Given the description of an element on the screen output the (x, y) to click on. 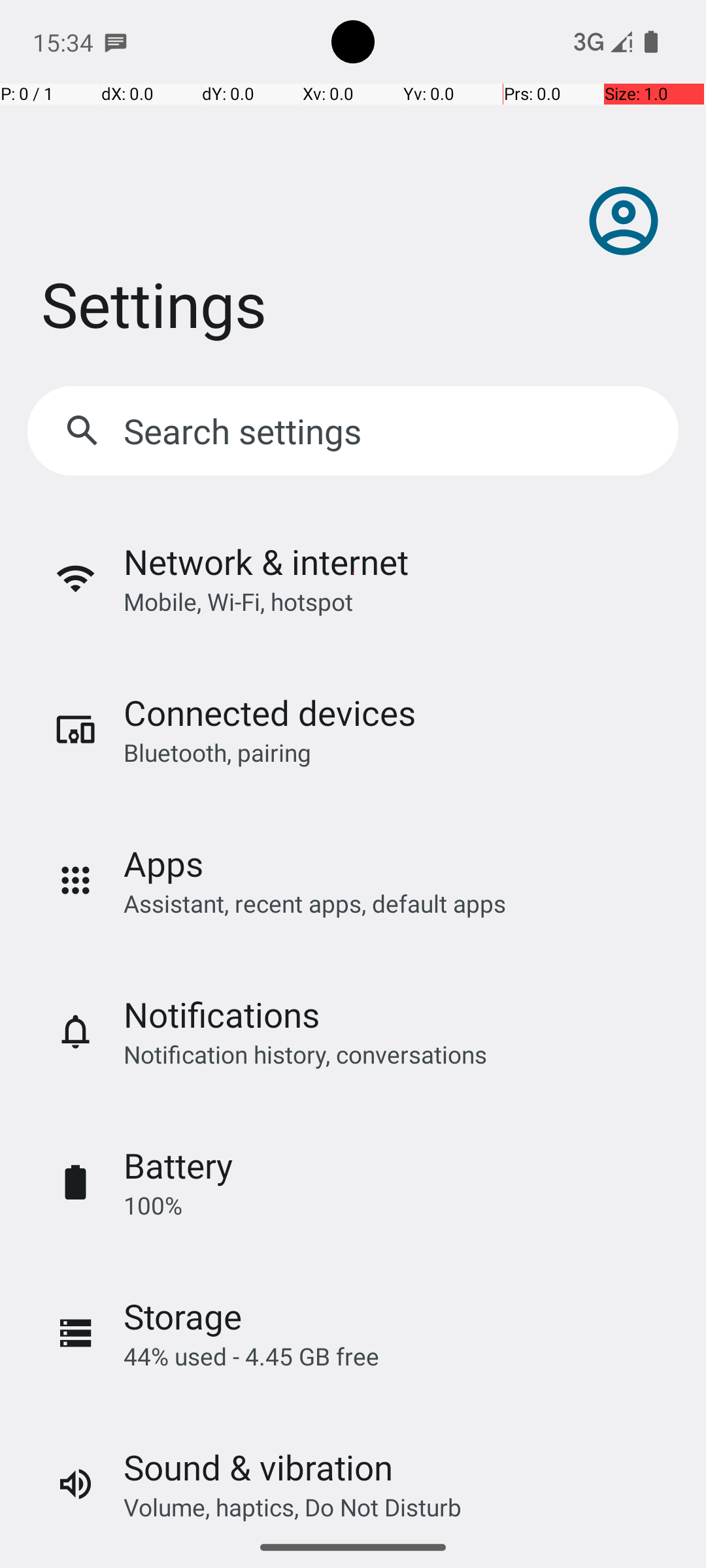
44% used - 4.45 GB free Element type: android.widget.TextView (251, 1355)
